Given the description of an element on the screen output the (x, y) to click on. 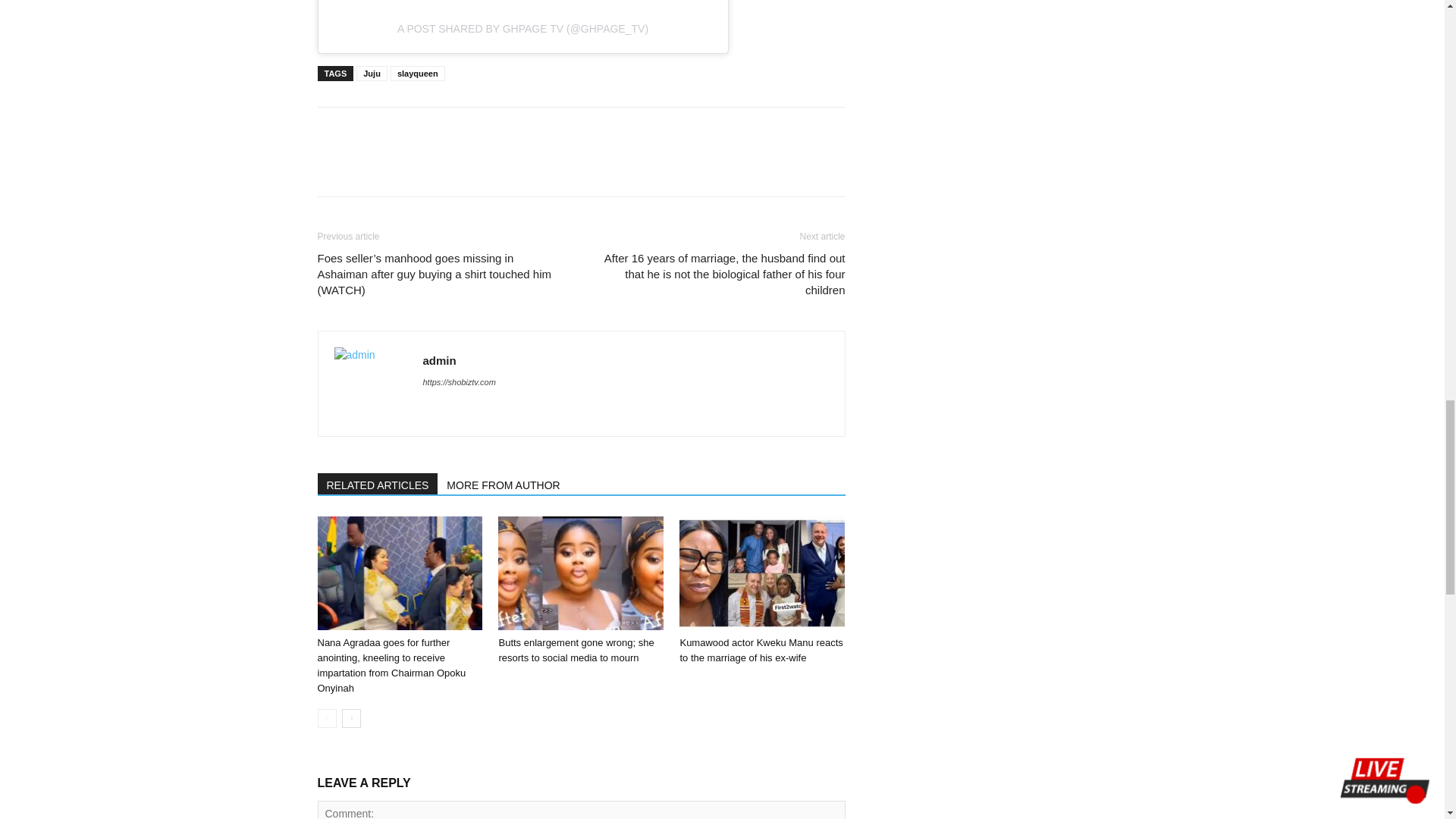
slayqueen (417, 73)
Juju (371, 73)
bottomFacebookLike (430, 131)
